Given the description of an element on the screen output the (x, y) to click on. 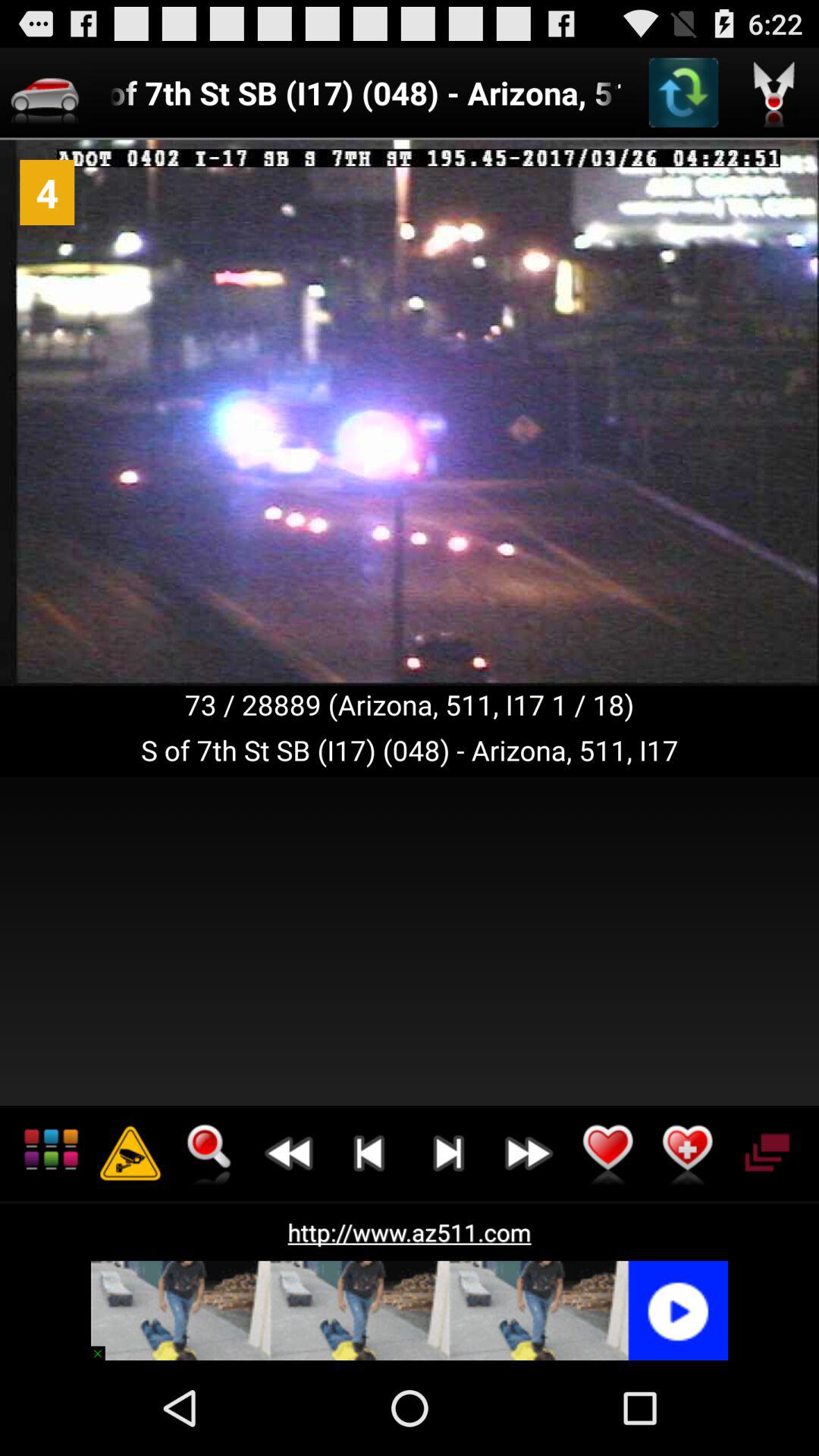
refresh (683, 92)
